Given the description of an element on the screen output the (x, y) to click on. 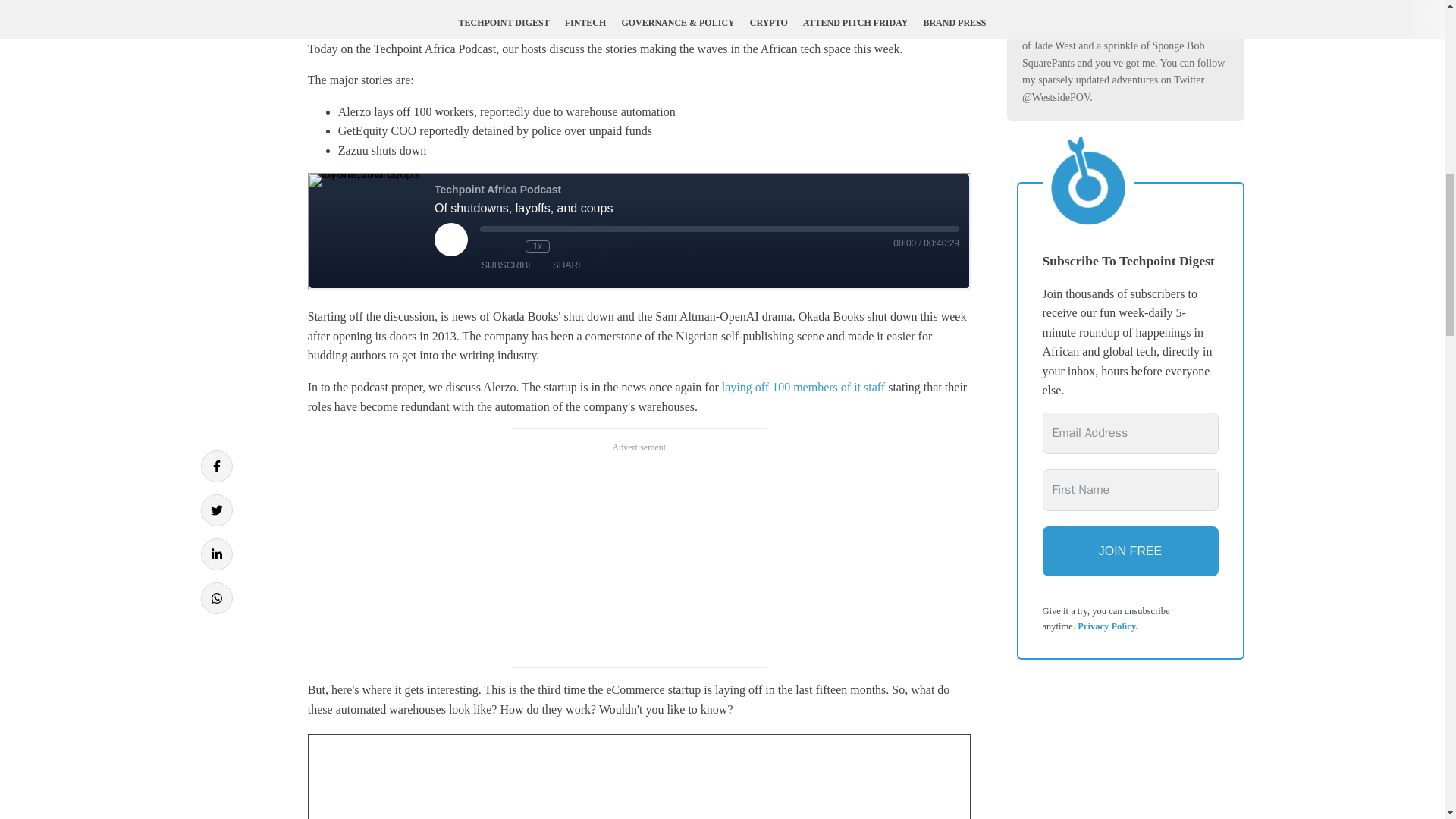
Privacy Policy. (1107, 625)
JOIN FREE (1129, 551)
laying off 100 members of it staff (803, 386)
